Given the description of an element on the screen output the (x, y) to click on. 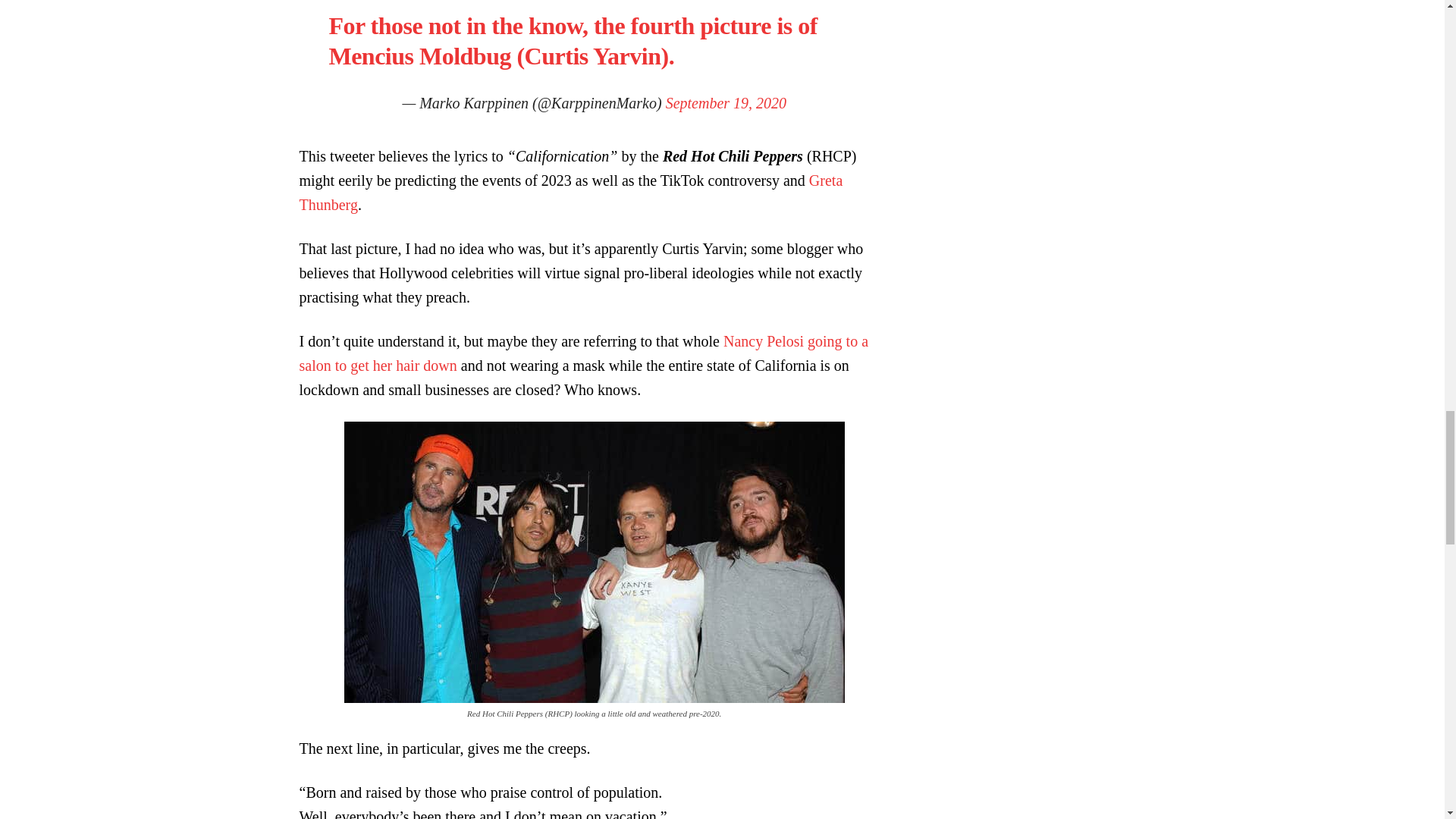
Greta Thunberg (570, 191)
September 19, 2020 (725, 103)
Nancy Pelosi going to a salon to get her hair down (582, 352)
